Given the description of an element on the screen output the (x, y) to click on. 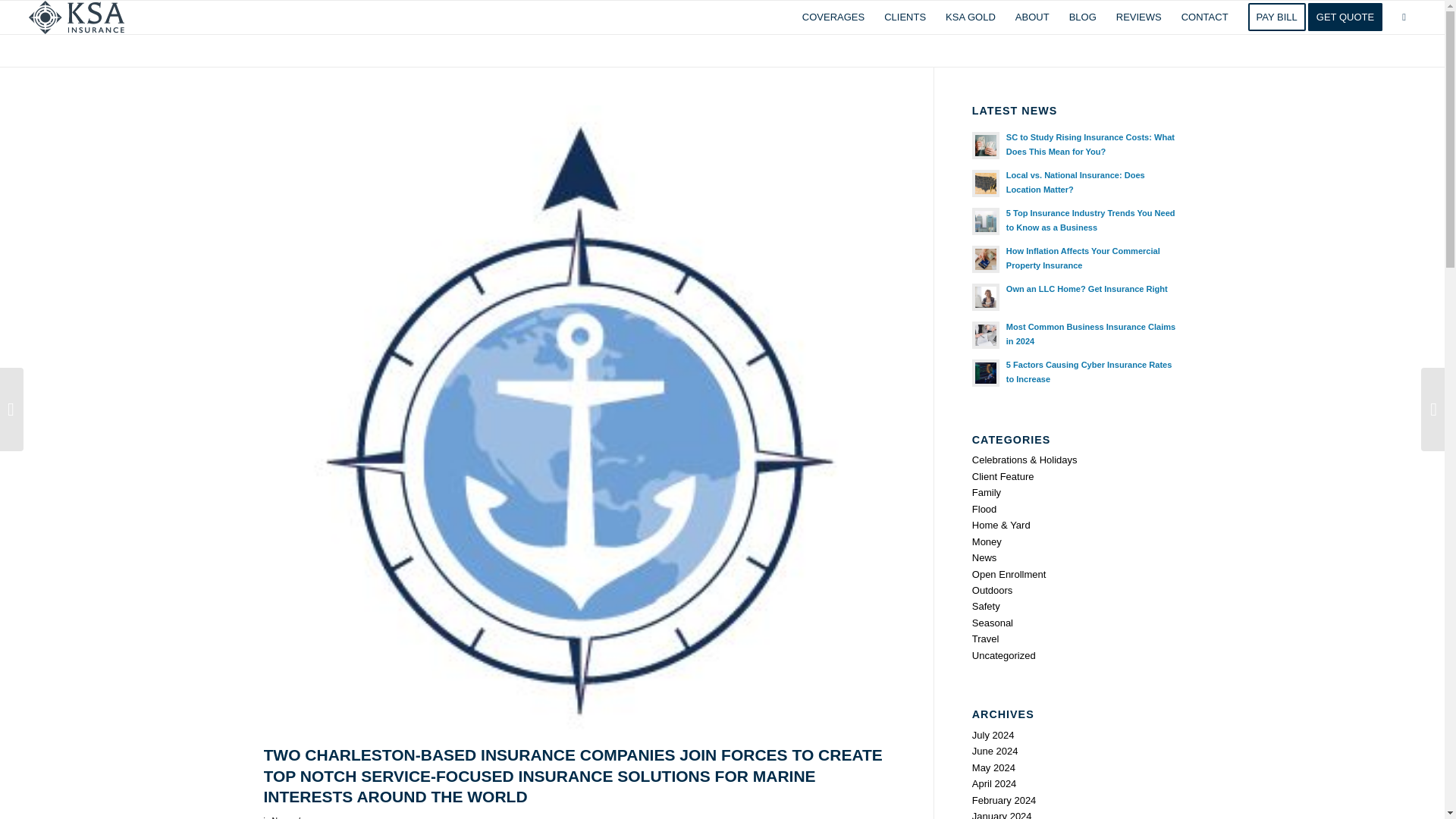
COVERAGES (833, 17)
